Given the description of an element on the screen output the (x, y) to click on. 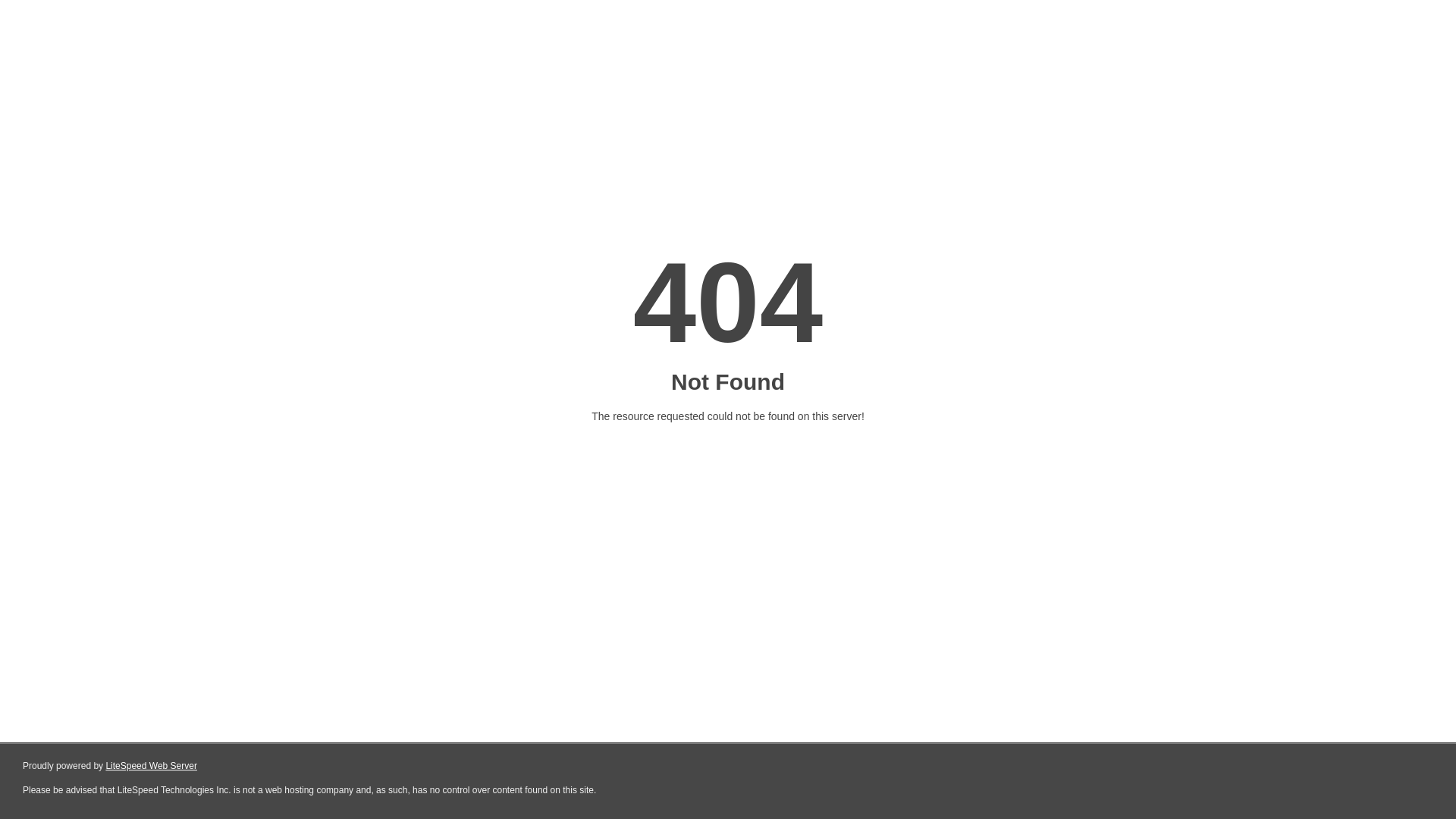
LiteSpeed Web Server Element type: text (151, 765)
